Given the description of an element on the screen output the (x, y) to click on. 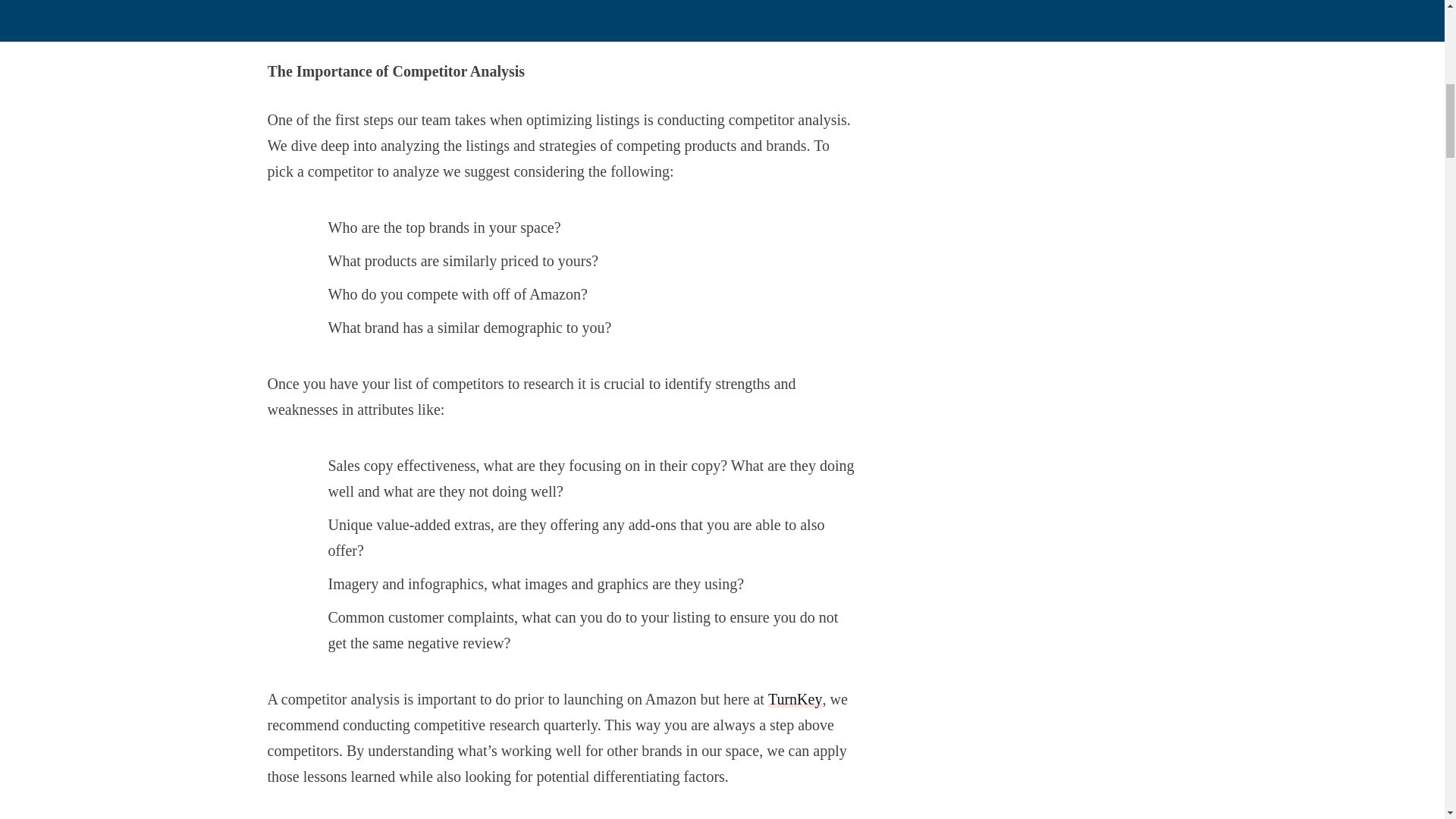
TurnKey (795, 699)
